Given the description of an element on the screen output the (x, y) to click on. 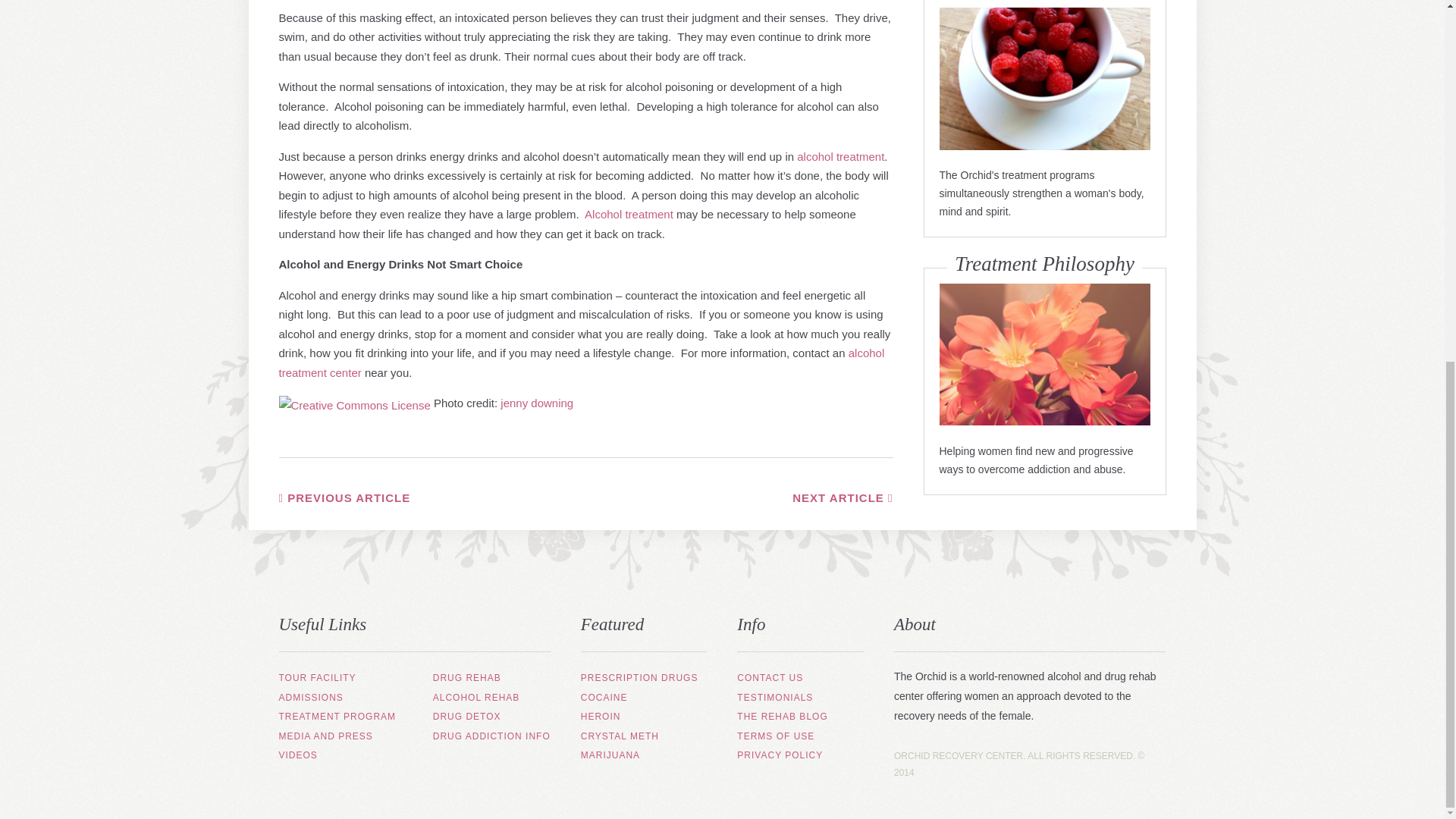
alcohol treatment (839, 155)
alcohol treatment center (582, 362)
Attribution License (354, 402)
PREVIOUS ARTICLE (344, 497)
jenny downing (536, 402)
Alcohol treatment (628, 214)
jenny downing (536, 402)
NEXT ARTICLE (842, 497)
